Given the description of an element on the screen output the (x, y) to click on. 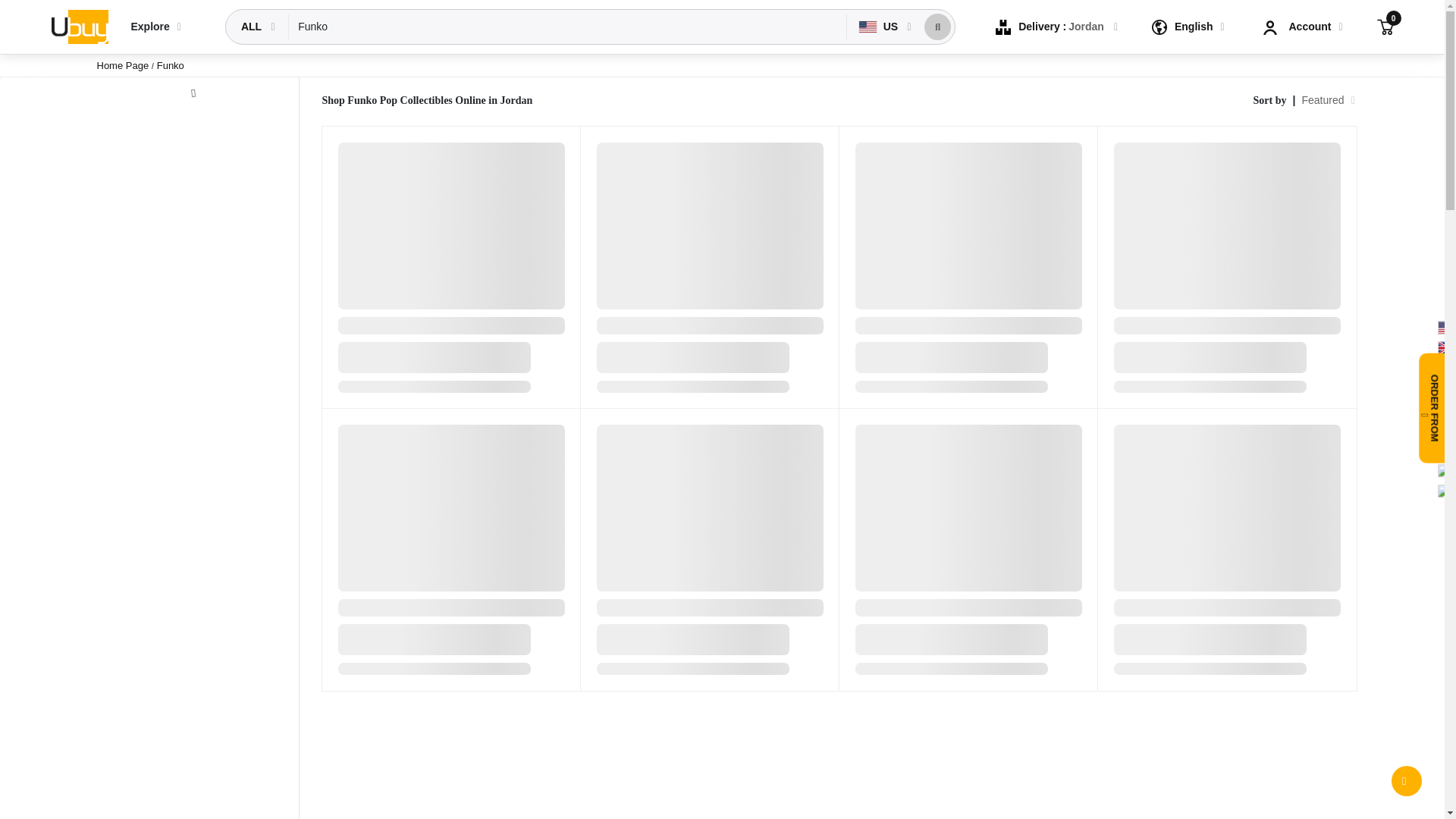
ALL (253, 26)
0 (1385, 26)
US (879, 26)
Funko (566, 26)
Ubuy (78, 26)
